Given the description of an element on the screen output the (x, y) to click on. 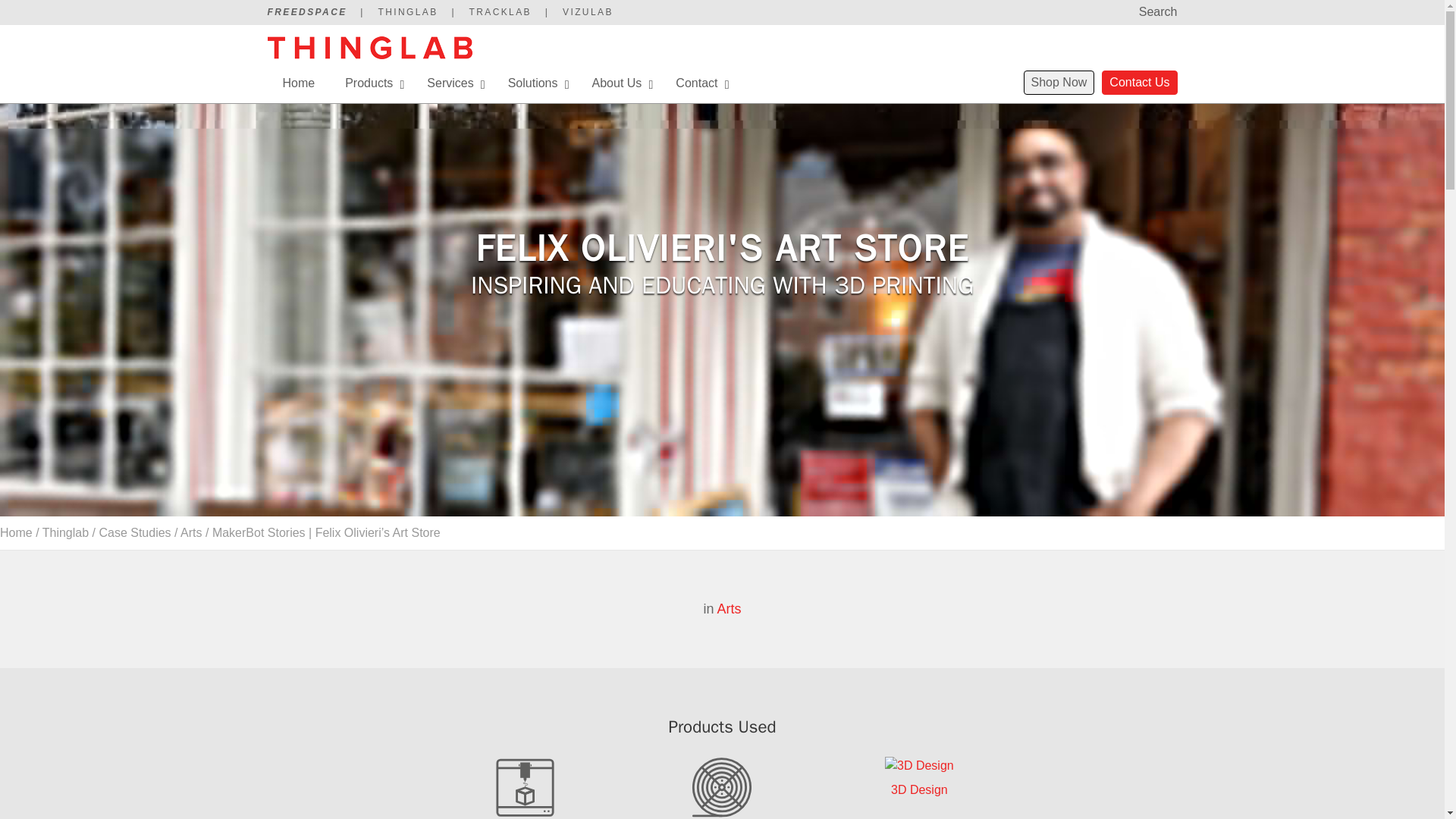
Freedspace (368, 54)
Home (298, 83)
3D Visualisation (587, 11)
THINGLAB (407, 11)
TRACKLAB (499, 11)
Search for: (1125, 13)
FREEDSPACE (306, 11)
3D Printing (407, 11)
Products (371, 83)
Search (29, 13)
Freedspace (306, 11)
VIZULAB (587, 11)
3D Tracking (499, 11)
